Given the description of an element on the screen output the (x, y) to click on. 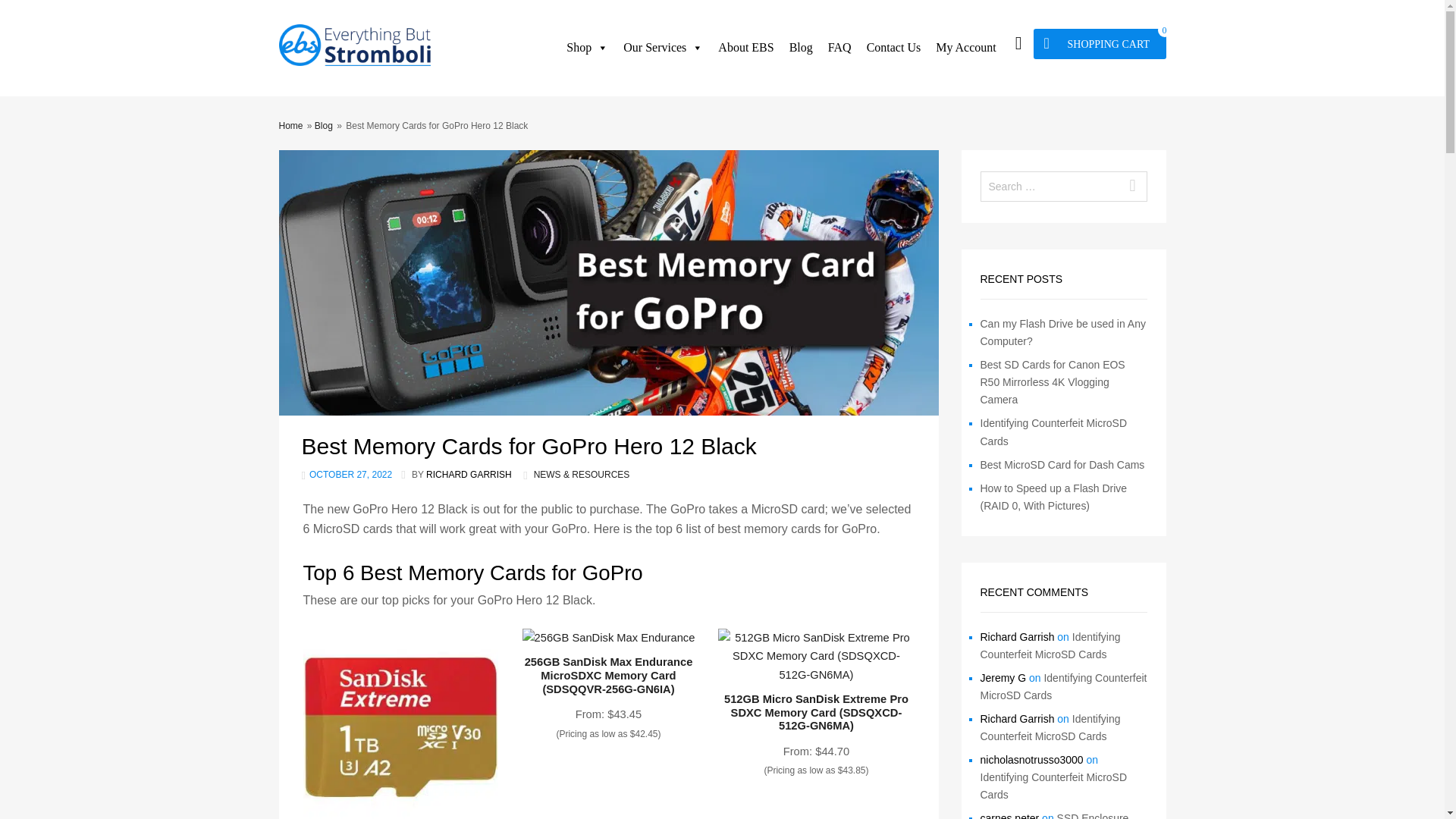
RICHARD GARRISH (469, 474)
Our Services (662, 47)
Blog (801, 47)
Everything But Stromboli (354, 61)
Contact Us (893, 47)
My Account (966, 47)
Shop (587, 47)
Blog (323, 125)
Home (290, 125)
View all posts by Richard Garrish (469, 474)
